Given the description of an element on the screen output the (x, y) to click on. 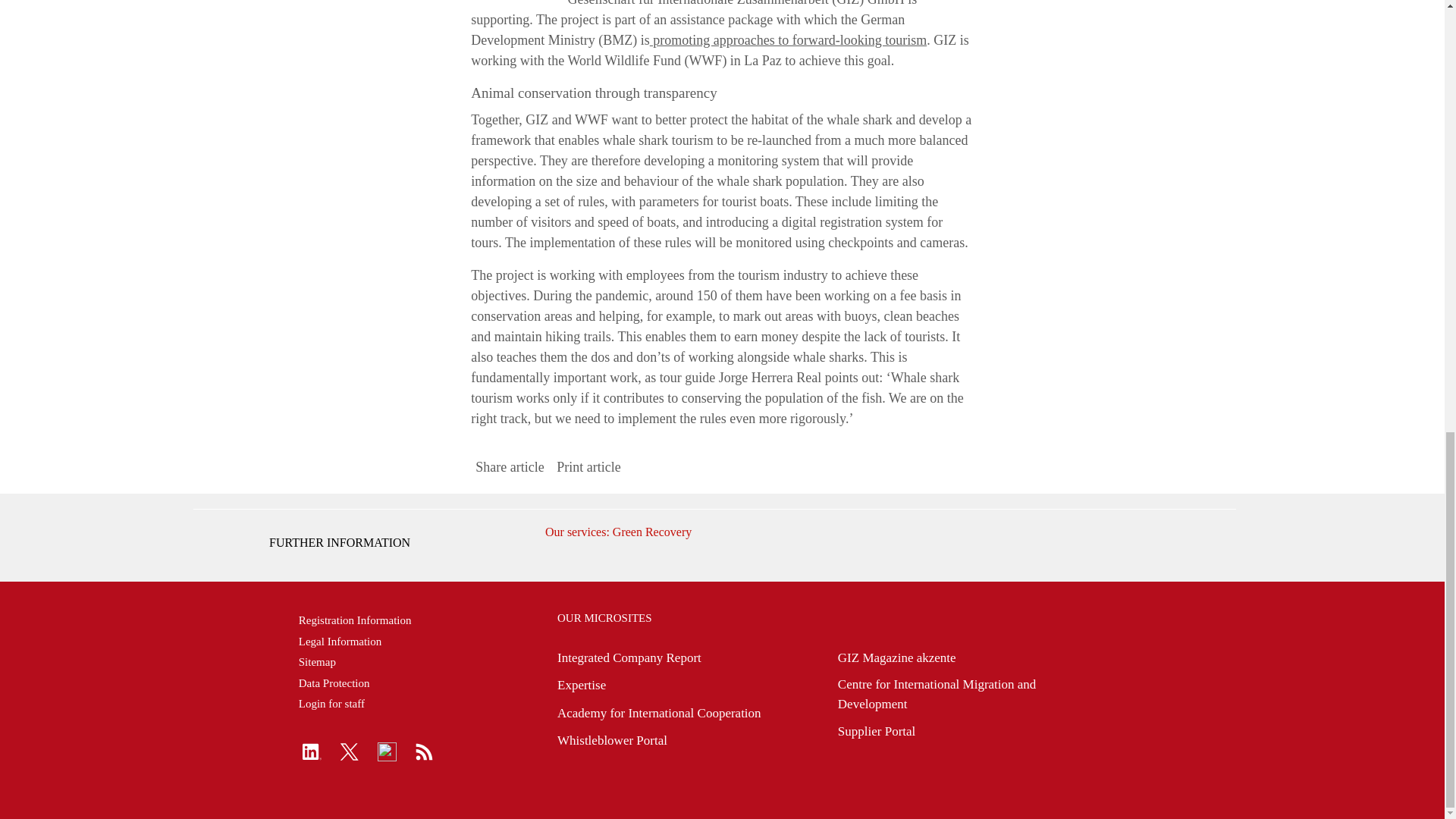
Share article (509, 467)
promoting approaches to forward-looking tourism (787, 39)
Print article (587, 467)
